Given the description of an element on the screen output the (x, y) to click on. 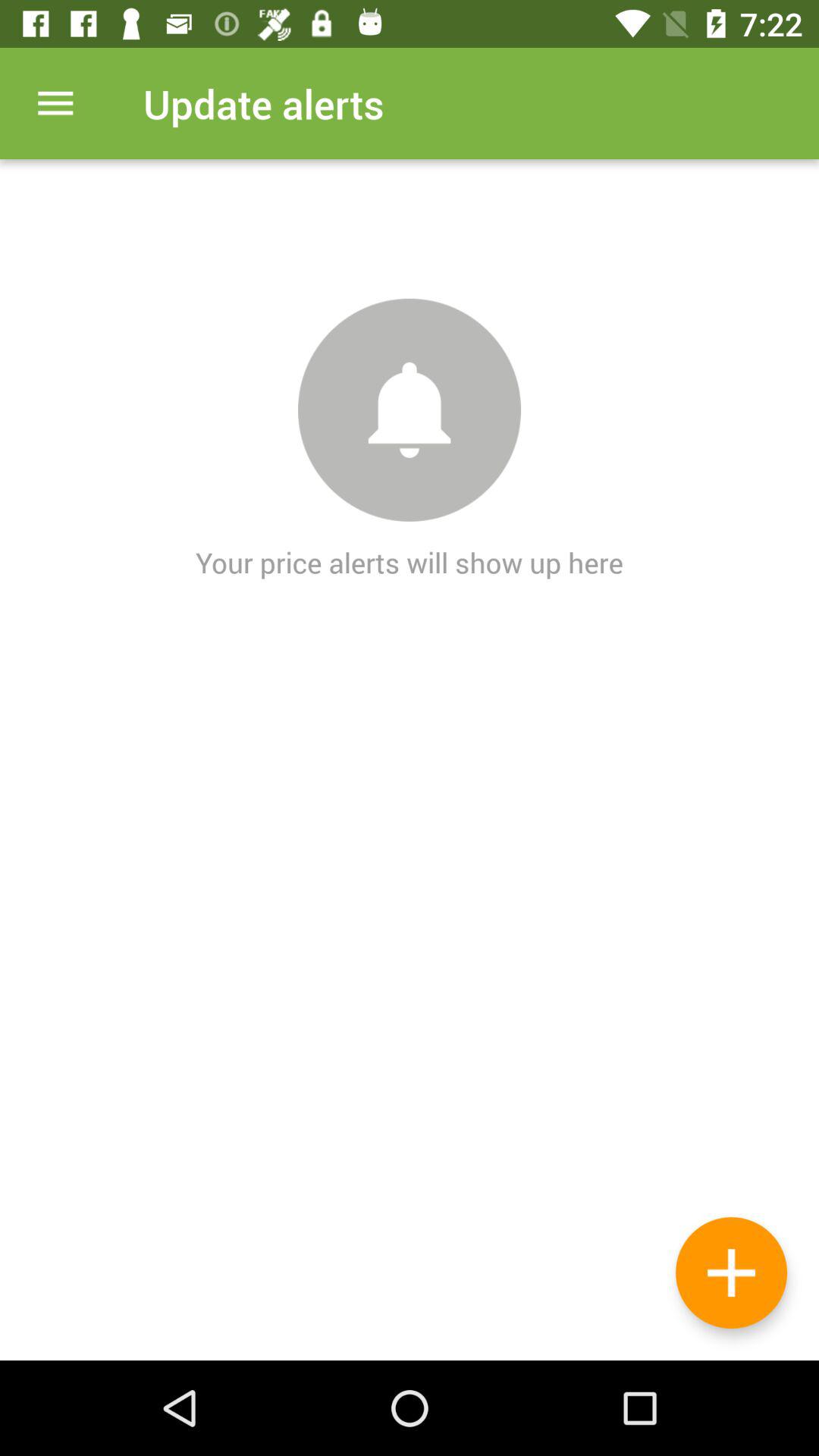
tap the icon below the update alerts (731, 1272)
